Given the description of an element on the screen output the (x, y) to click on. 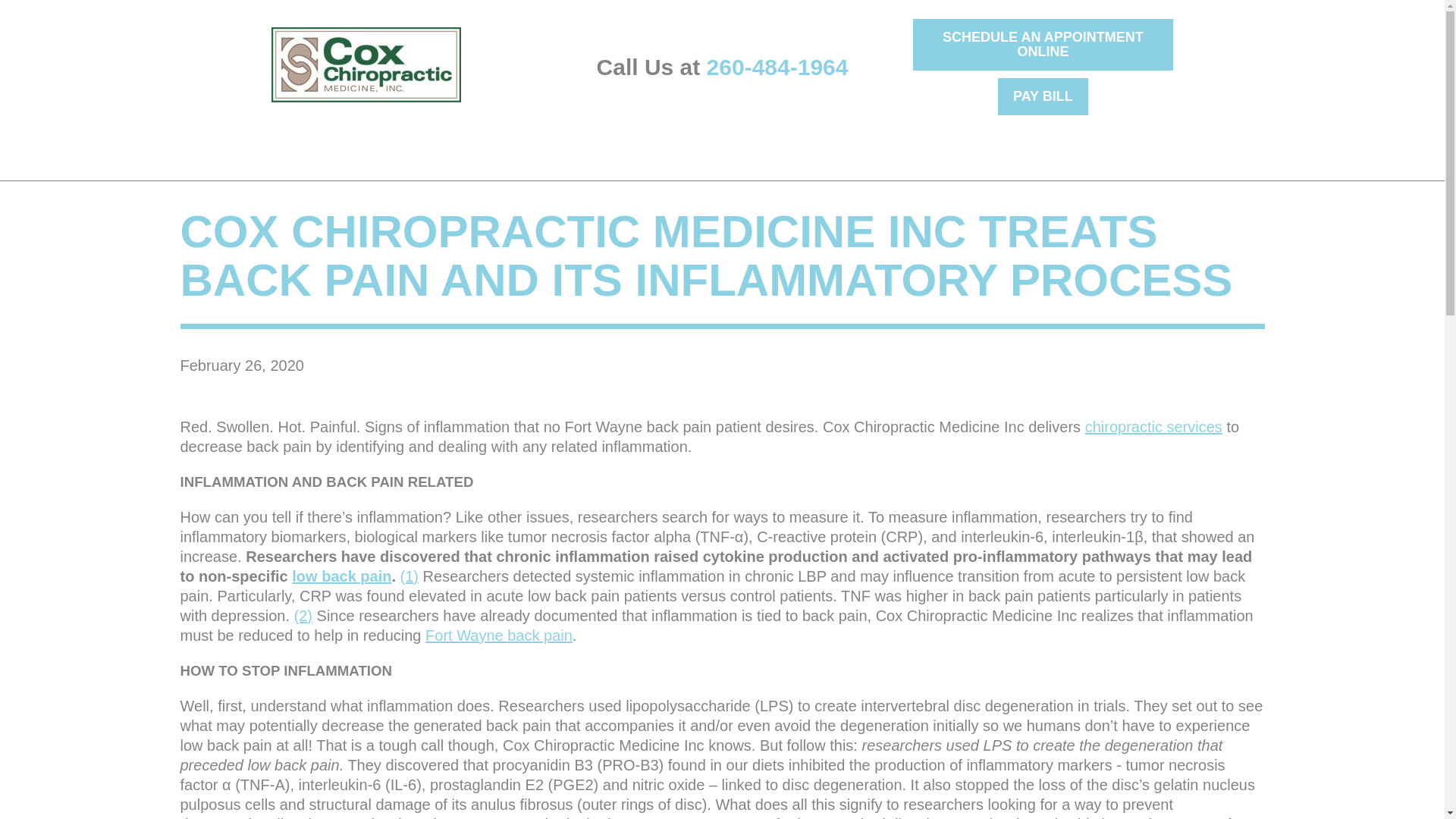
260-484-1964 (777, 66)
GET RELIEF (330, 143)
ID YOUR PAIN (216, 143)
Cox Chiropractic Medicine Inc Home (365, 64)
PAY BILL (1042, 96)
SCHEDULE AN APPOINTMENT ONLINE (1042, 44)
